Given the description of an element on the screen output the (x, y) to click on. 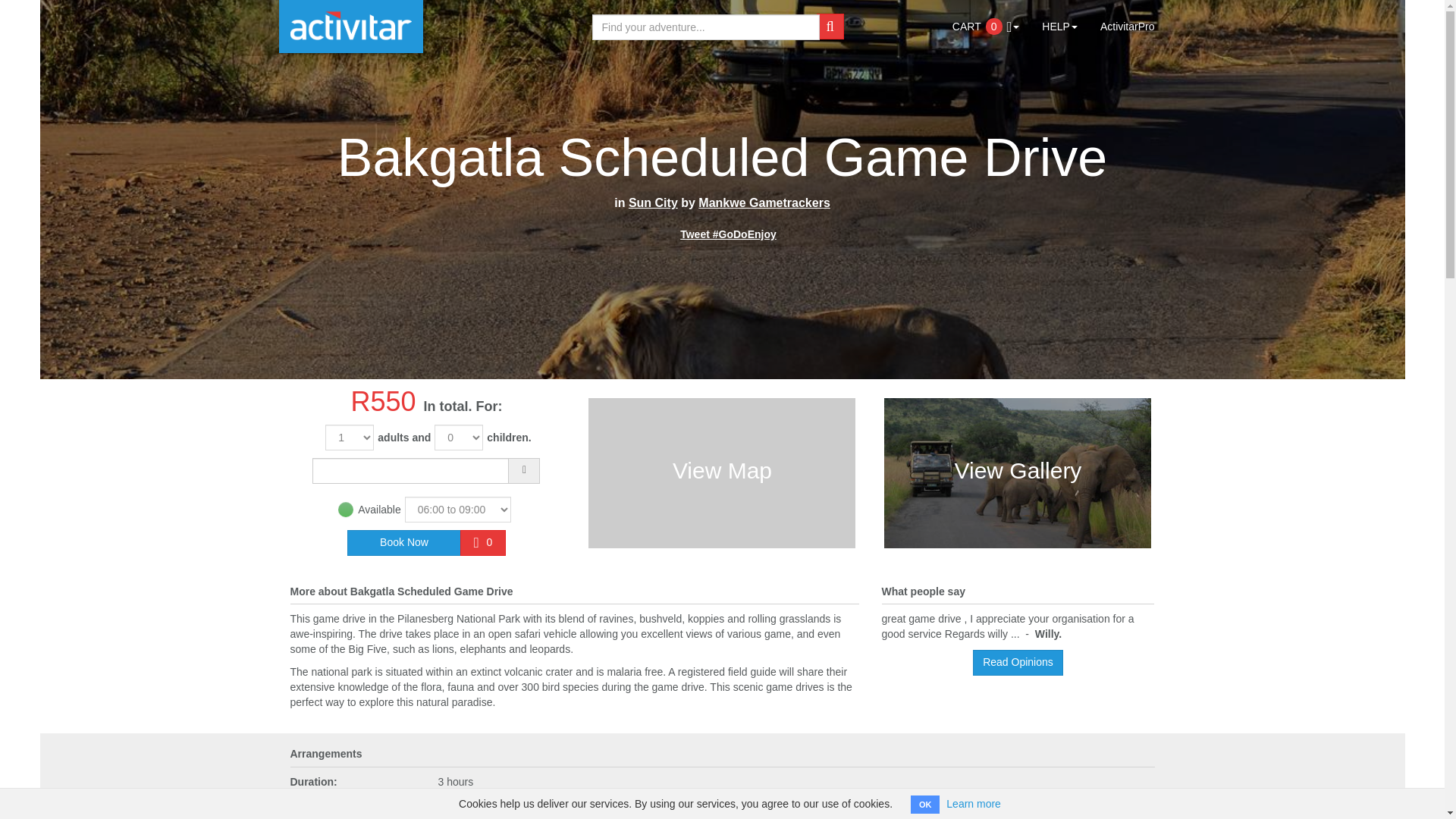
HELP (1059, 18)
CART0 (985, 18)
OK (925, 804)
Learn more (973, 803)
0 (482, 542)
View Map (722, 472)
Read Opinions (1017, 662)
Sun City (653, 202)
View Gallery (1017, 472)
Book Now (404, 542)
Mankwe Gametrackers (763, 202)
Activitar. Go. Do. Enjoy. (351, 26)
ActivitarPro (1127, 18)
